Given the description of an element on the screen output the (x, y) to click on. 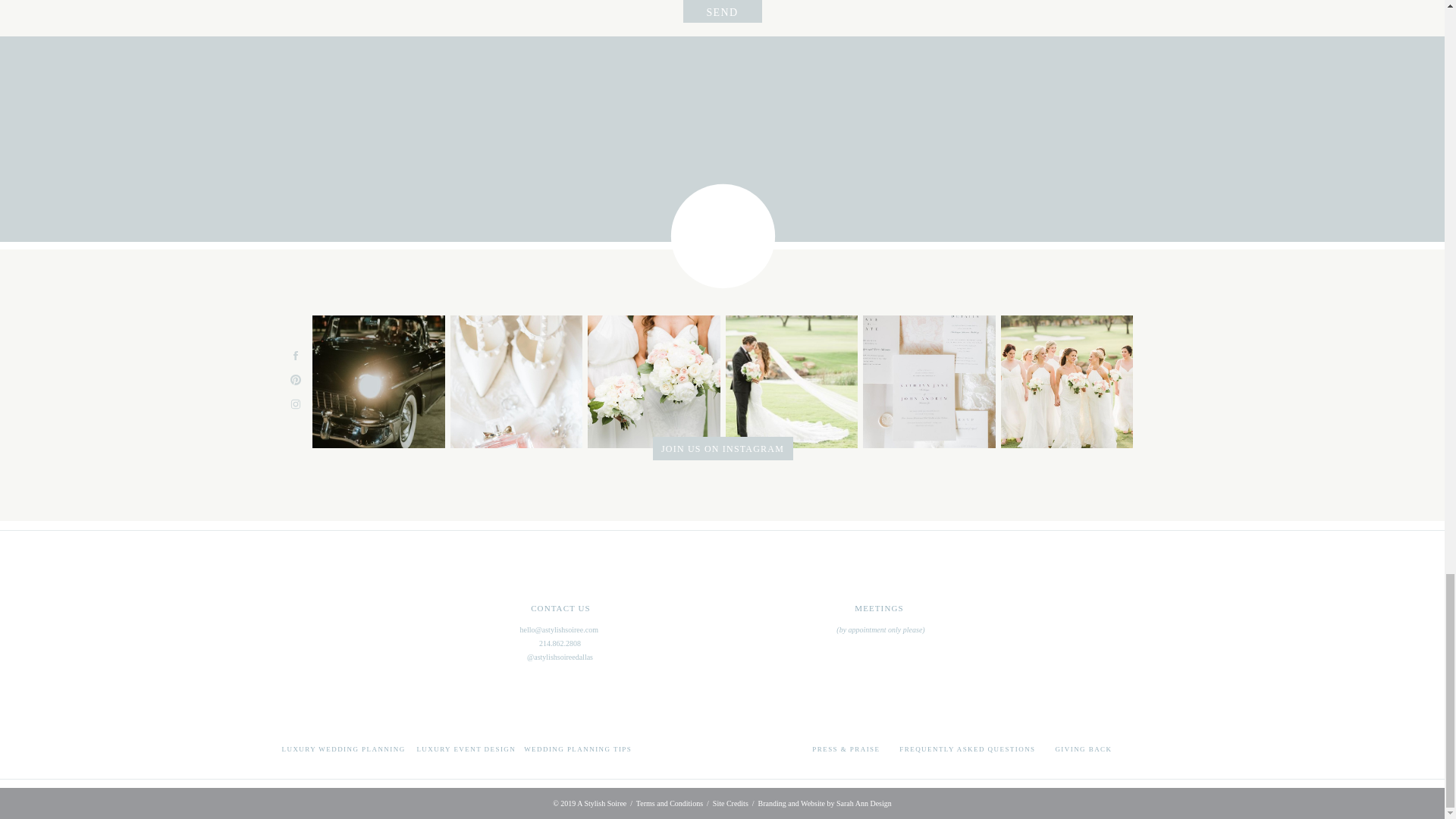
214.862.2808 (559, 643)
JOIN US ON INSTAGRAM (722, 448)
SEND (721, 10)
